Given the description of an element on the screen output the (x, y) to click on. 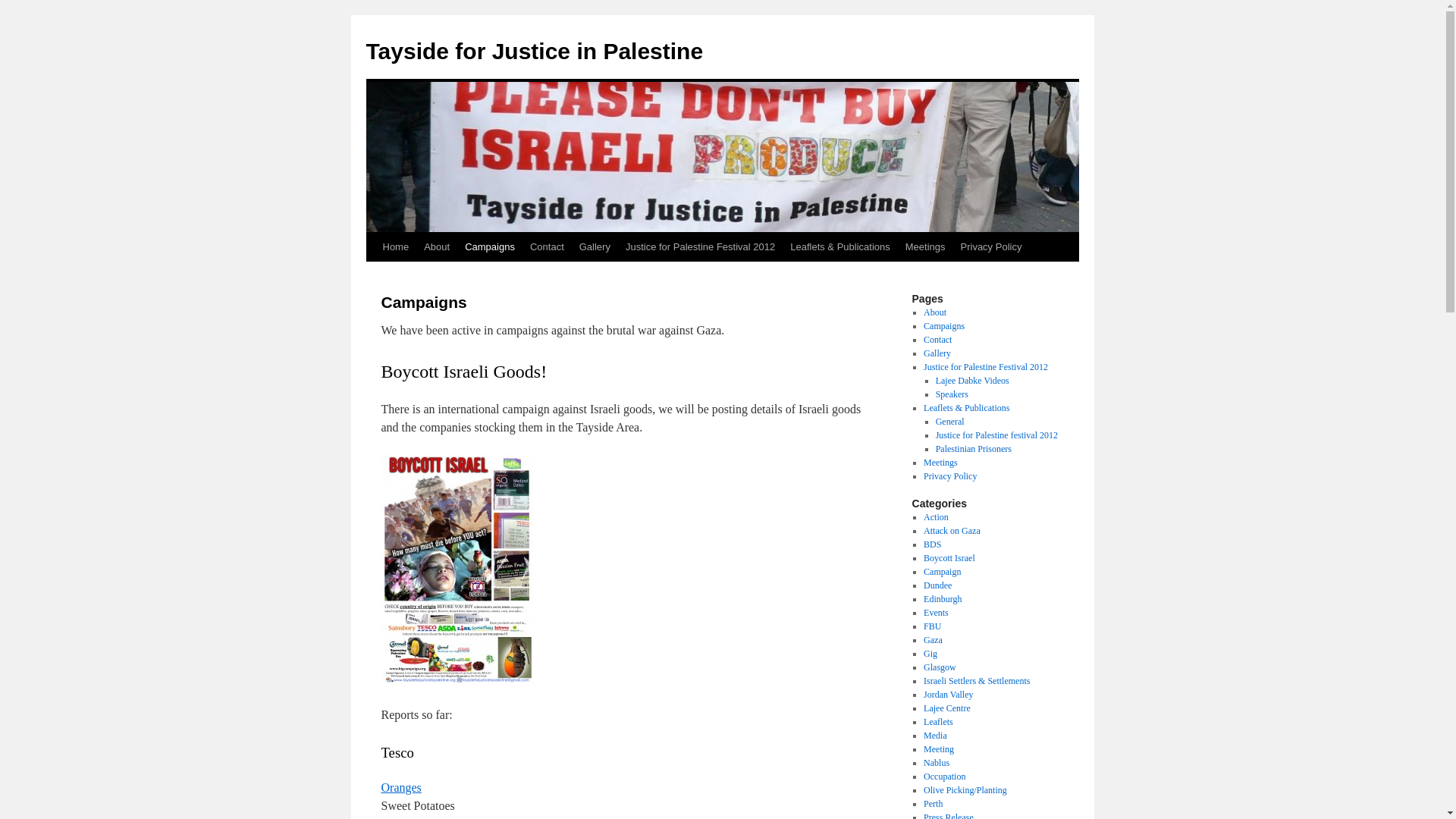
Speakers (952, 394)
Privacy Policy (990, 246)
Gallery (594, 246)
BDS (931, 543)
Justice for Palestine festival 2012 (997, 434)
Campaigns (489, 246)
Meetings (940, 462)
Palestinian Prisoners (973, 448)
Meetings (925, 246)
Edinburgh (941, 598)
